Given the description of an element on the screen output the (x, y) to click on. 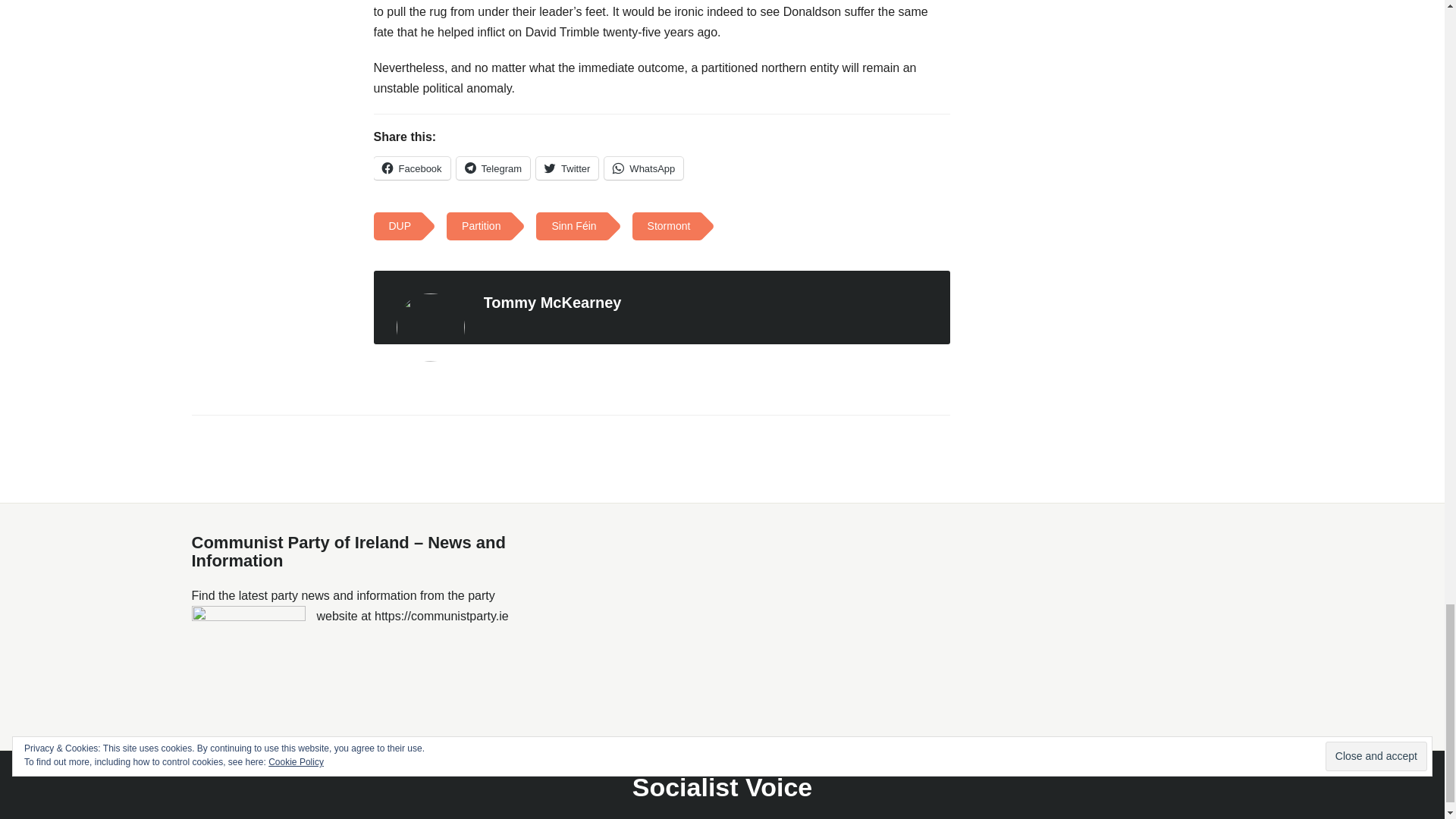
Click to share on Twitter (566, 167)
Posts by Tommy McKearney (552, 302)
Click to share on Telegram (493, 167)
Click to share on Facebook (410, 167)
Click to share on WhatsApp (643, 167)
